Given the description of an element on the screen output the (x, y) to click on. 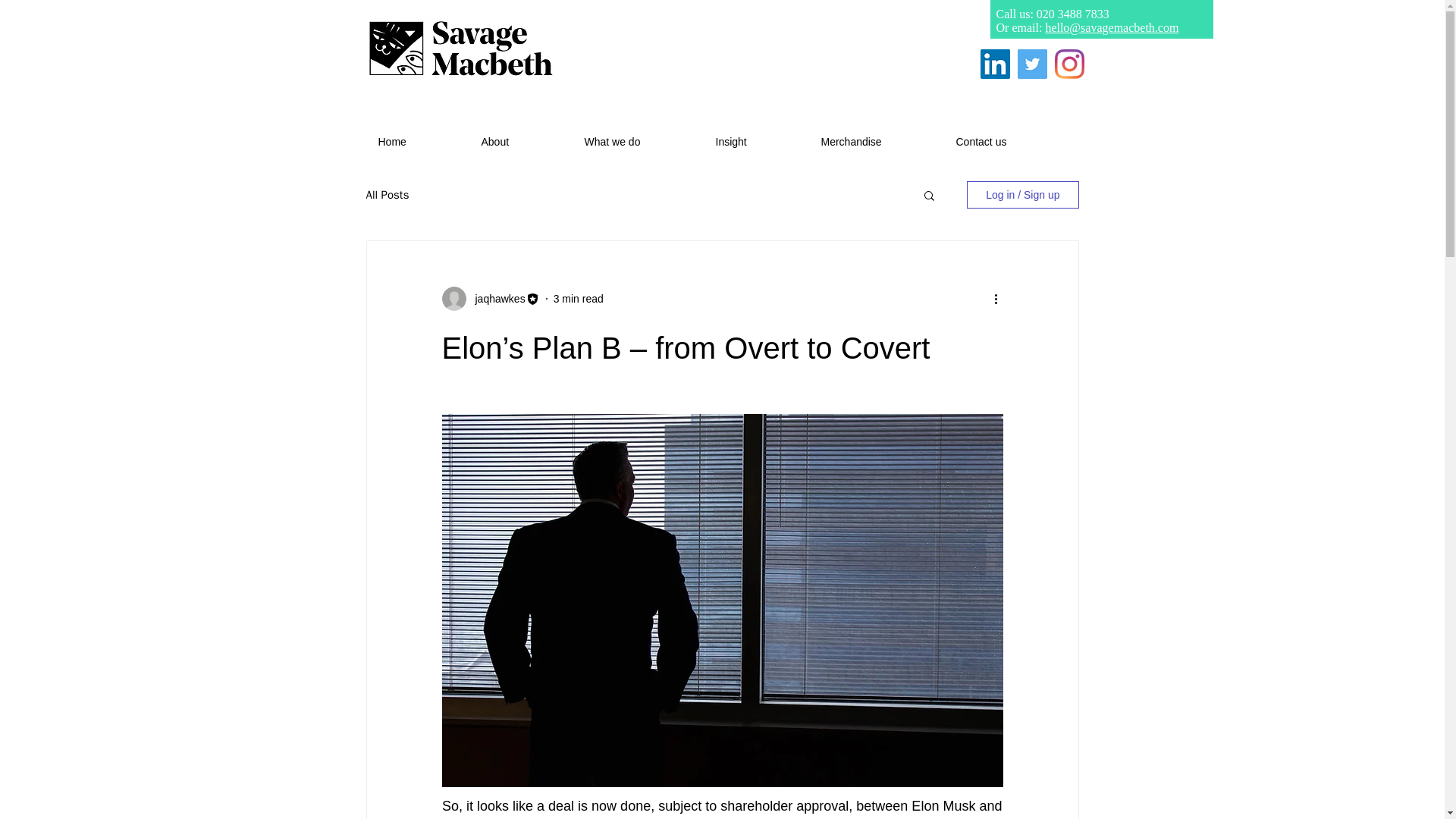
Merchandise (876, 141)
3 min read (578, 298)
Contact us (1007, 141)
Home (418, 141)
Insight (756, 141)
All Posts (387, 195)
About (521, 141)
jaqhawkes (494, 299)
What we do (638, 141)
